Given the description of an element on the screen output the (x, y) to click on. 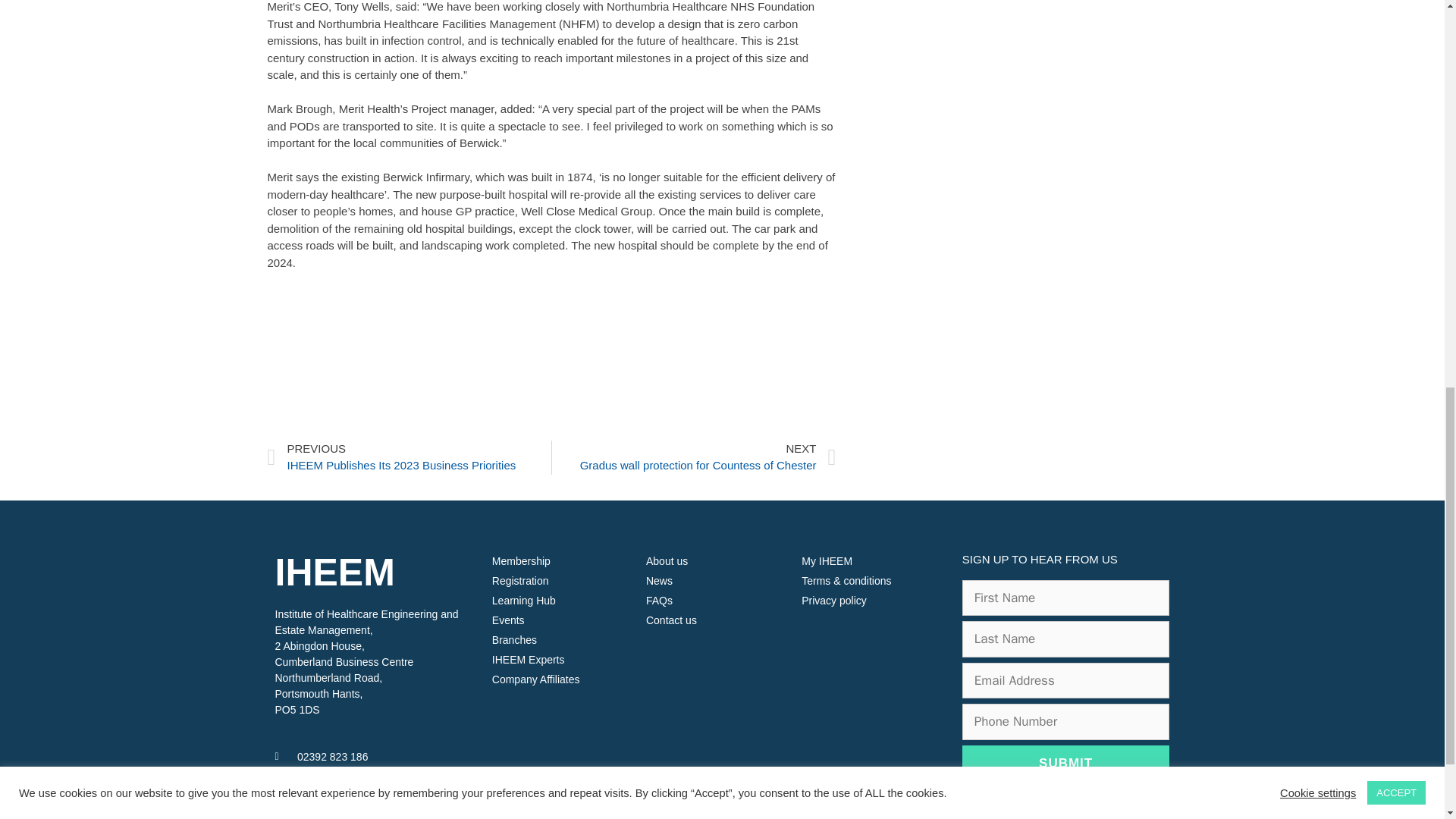
Scroll back to top (1406, 720)
Submit (1066, 763)
